Given the description of an element on the screen output the (x, y) to click on. 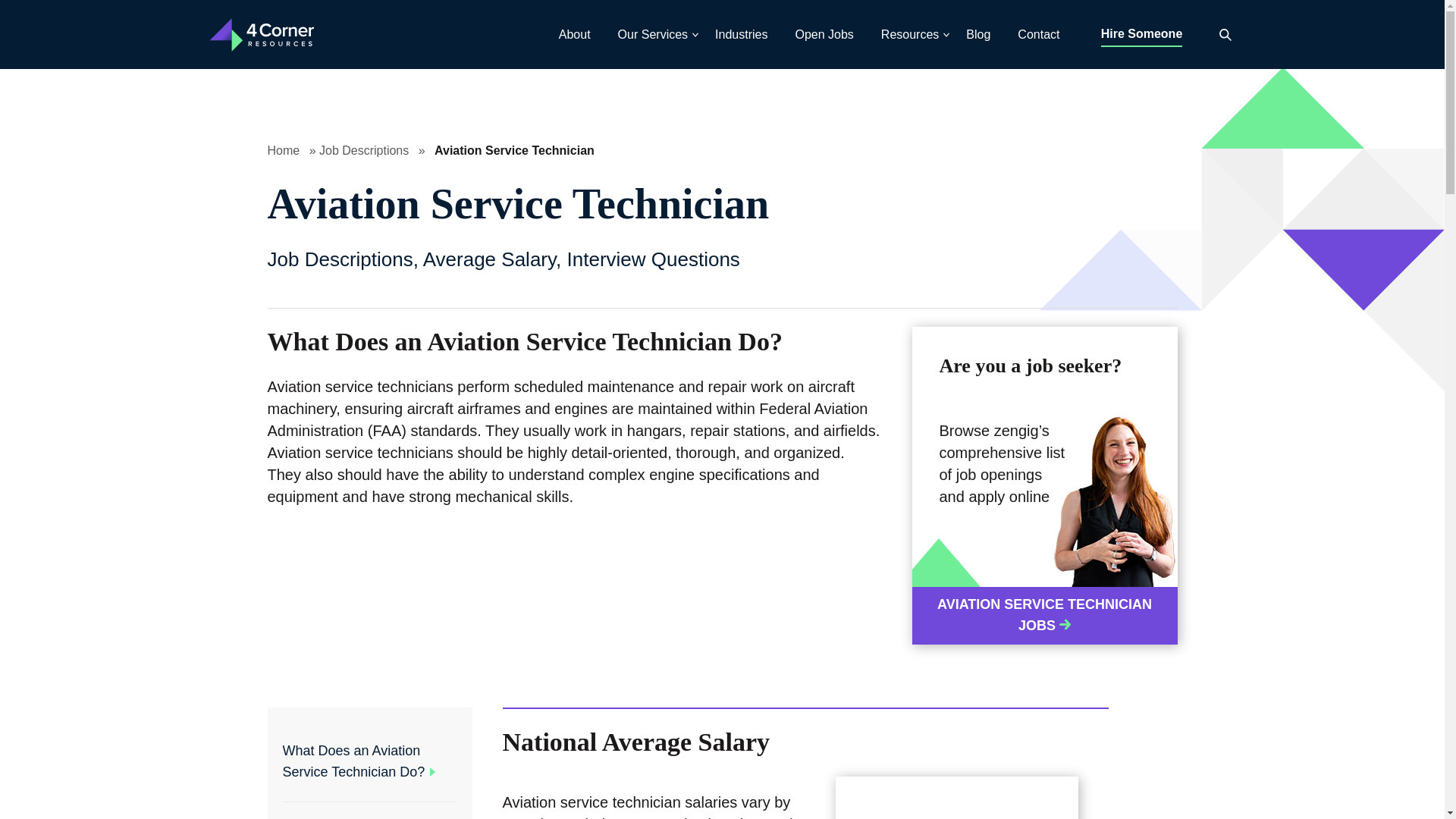
Blog (978, 34)
Our Services (652, 34)
Home (282, 150)
Menu (18, 18)
Open Jobs (823, 34)
Industries (740, 34)
4 Corner Resources (263, 34)
Contact (1038, 34)
About (574, 34)
What Does an Aviation Service Technician Do? (353, 760)
Hire Someone (1141, 34)
AVIATION SERVICE TECHNICIAN JOBS (1043, 615)
Resources (909, 34)
Job Descriptions (363, 150)
